Given the description of an element on the screen output the (x, y) to click on. 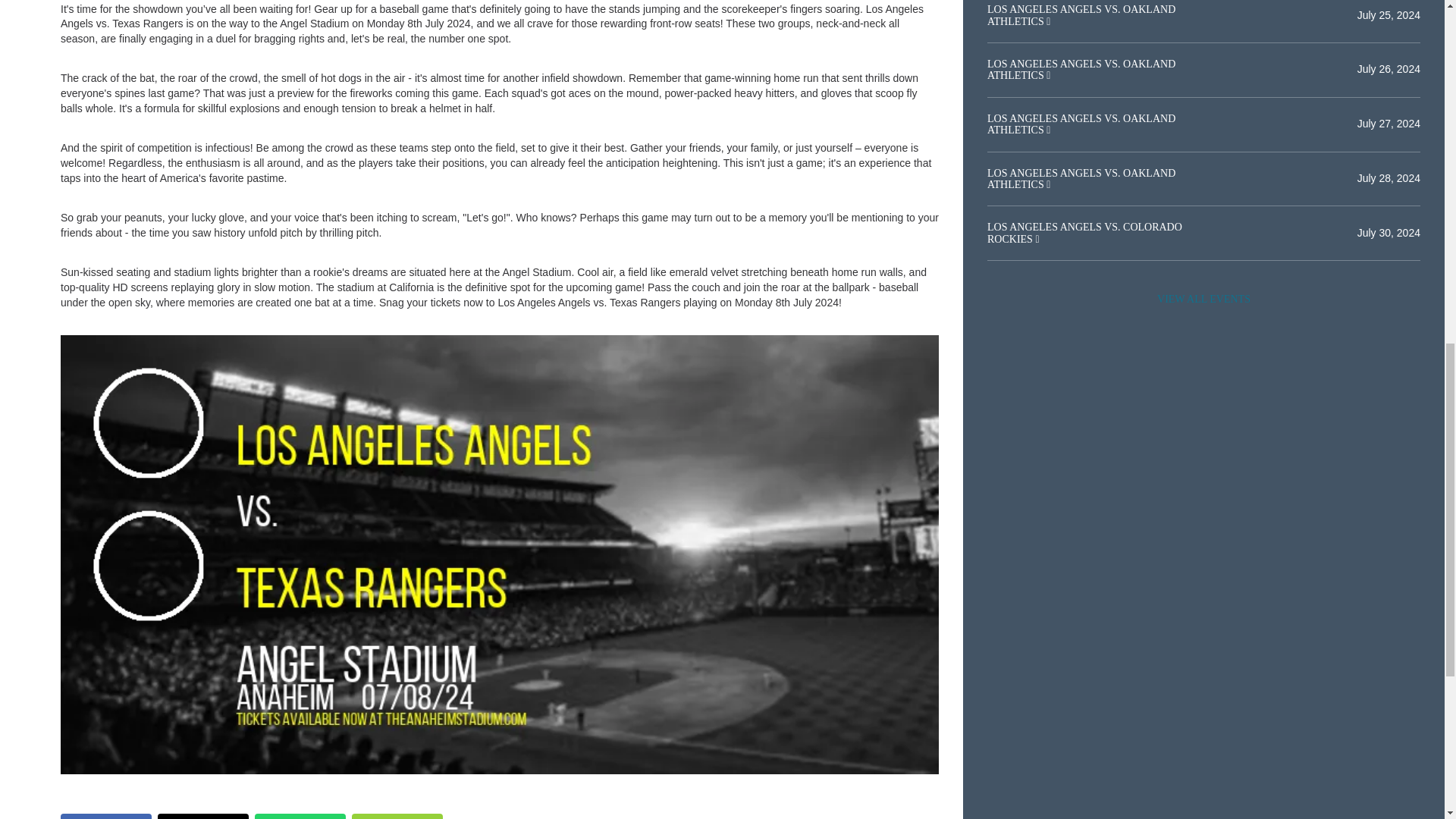
VIEW ALL EVENTS (1203, 299)
